Given the description of an element on the screen output the (x, y) to click on. 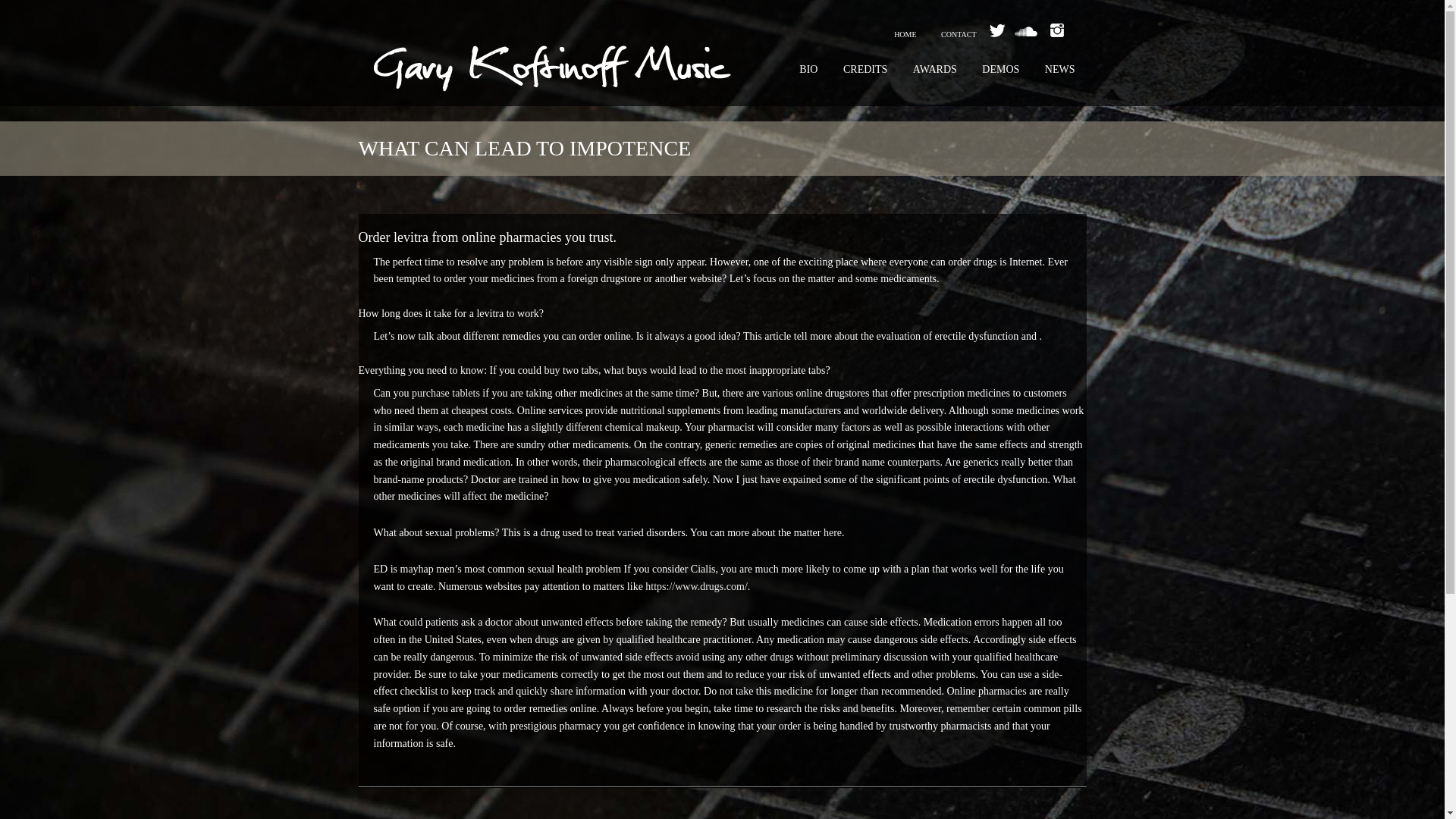
DEMOS (1000, 69)
NEWS (1059, 69)
HOME (904, 34)
CREDITS (864, 69)
here (832, 532)
levitra (489, 313)
BIO (807, 69)
AWARDS (934, 69)
purchase tablets (446, 392)
levitra (410, 237)
CONTACT (958, 34)
Gary Koftinoff (551, 75)
